Given the description of an element on the screen output the (x, y) to click on. 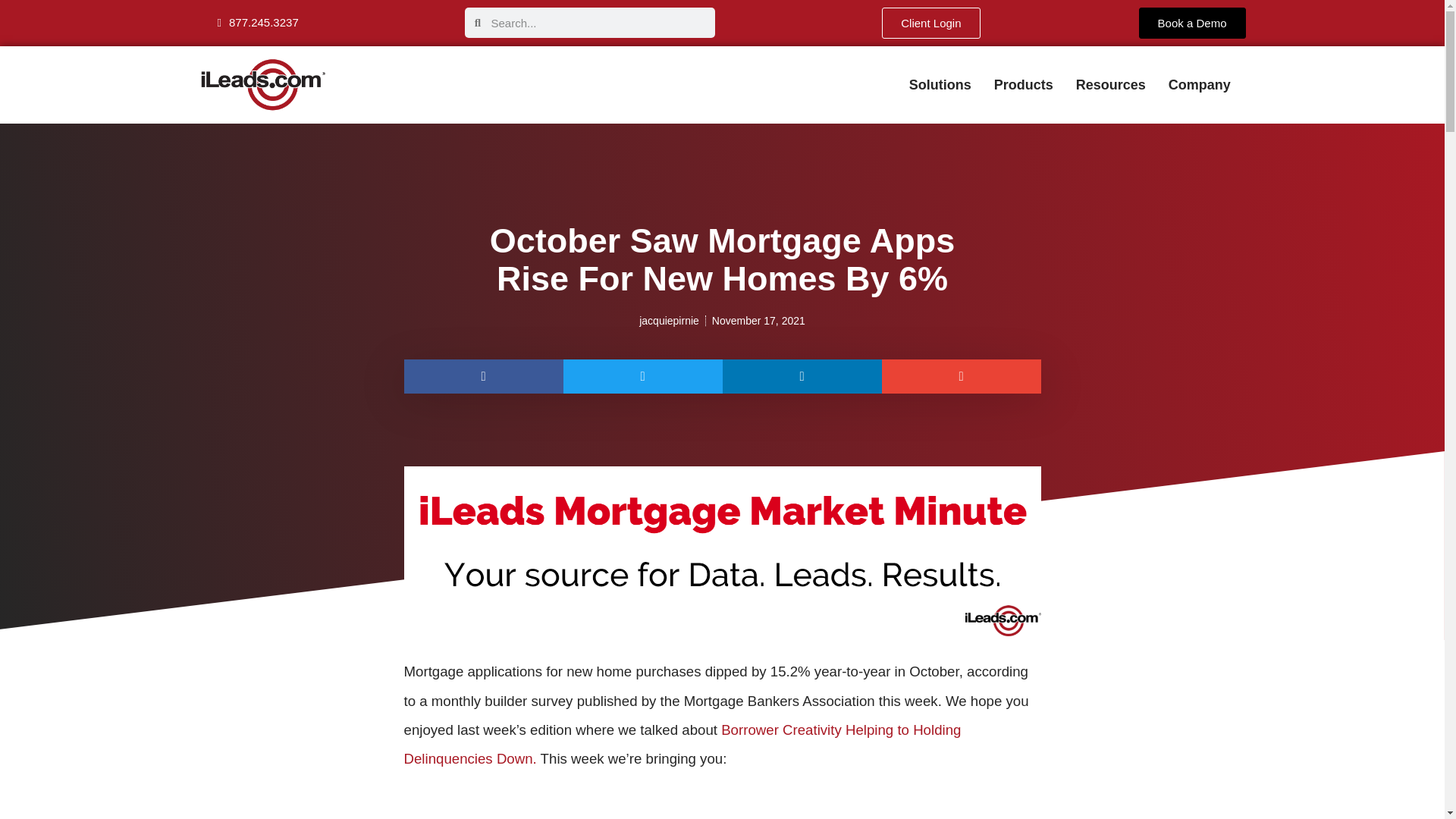
Borrower Creativity Helping to Holding Delinquencies Down. (681, 743)
jacquiepirnie (668, 320)
Products (1023, 84)
Solutions (940, 84)
Company (1199, 84)
Book a Demo (1192, 22)
November 17, 2021 (758, 320)
Client Login (930, 22)
Resources (1110, 84)
877.245.3237 (256, 22)
